Given the description of an element on the screen output the (x, y) to click on. 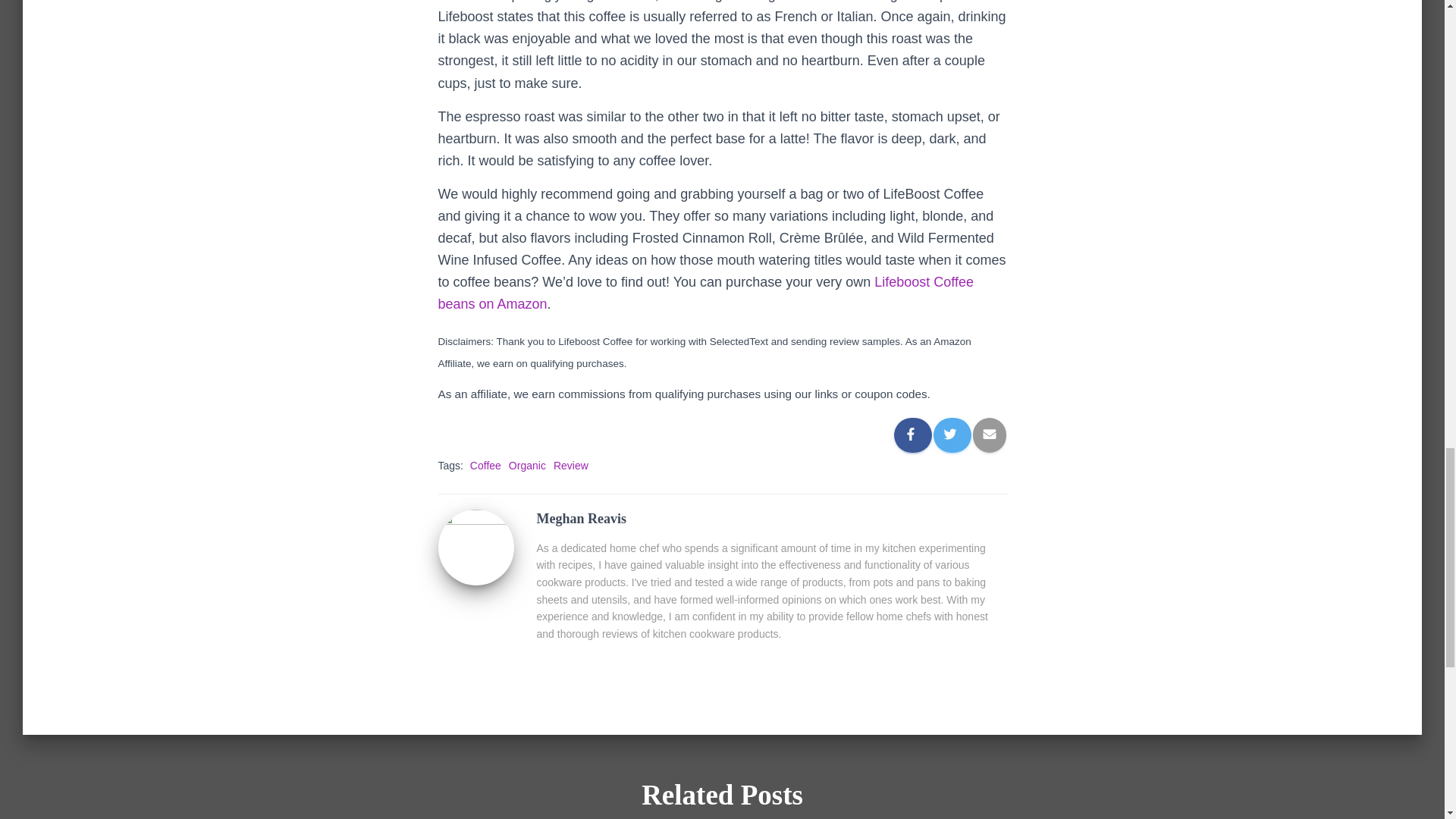
Organic (527, 465)
Review (570, 465)
Meghan Reavis (475, 545)
Lifeboost Coffee beans on Amazon (706, 293)
Coffee (485, 465)
